Given the description of an element on the screen output the (x, y) to click on. 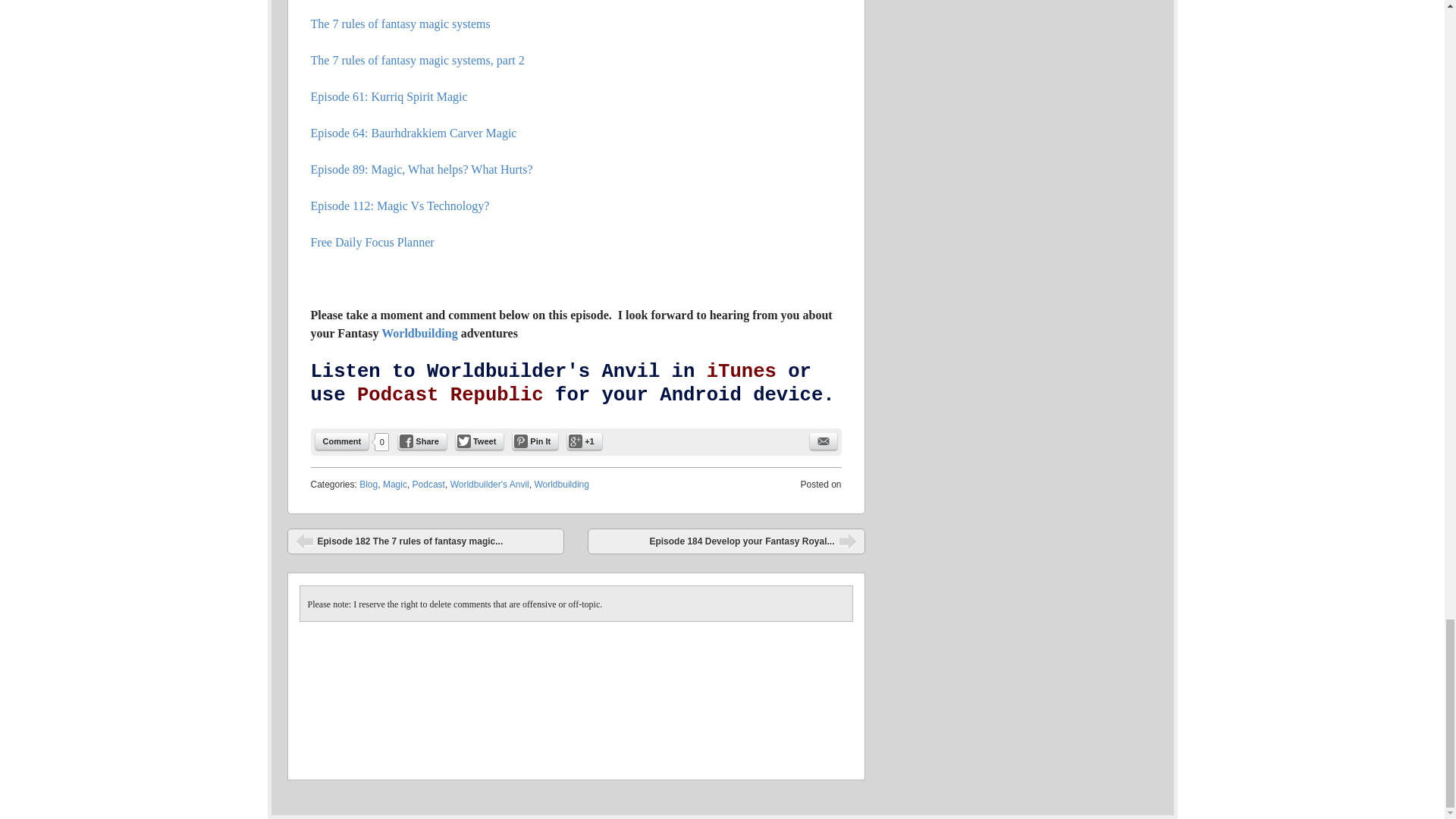
Tweet this Post (479, 441)
Comment on this Post (342, 441)
Pin it. (534, 441)
Share on Facebook (421, 441)
